Given the description of an element on the screen output the (x, y) to click on. 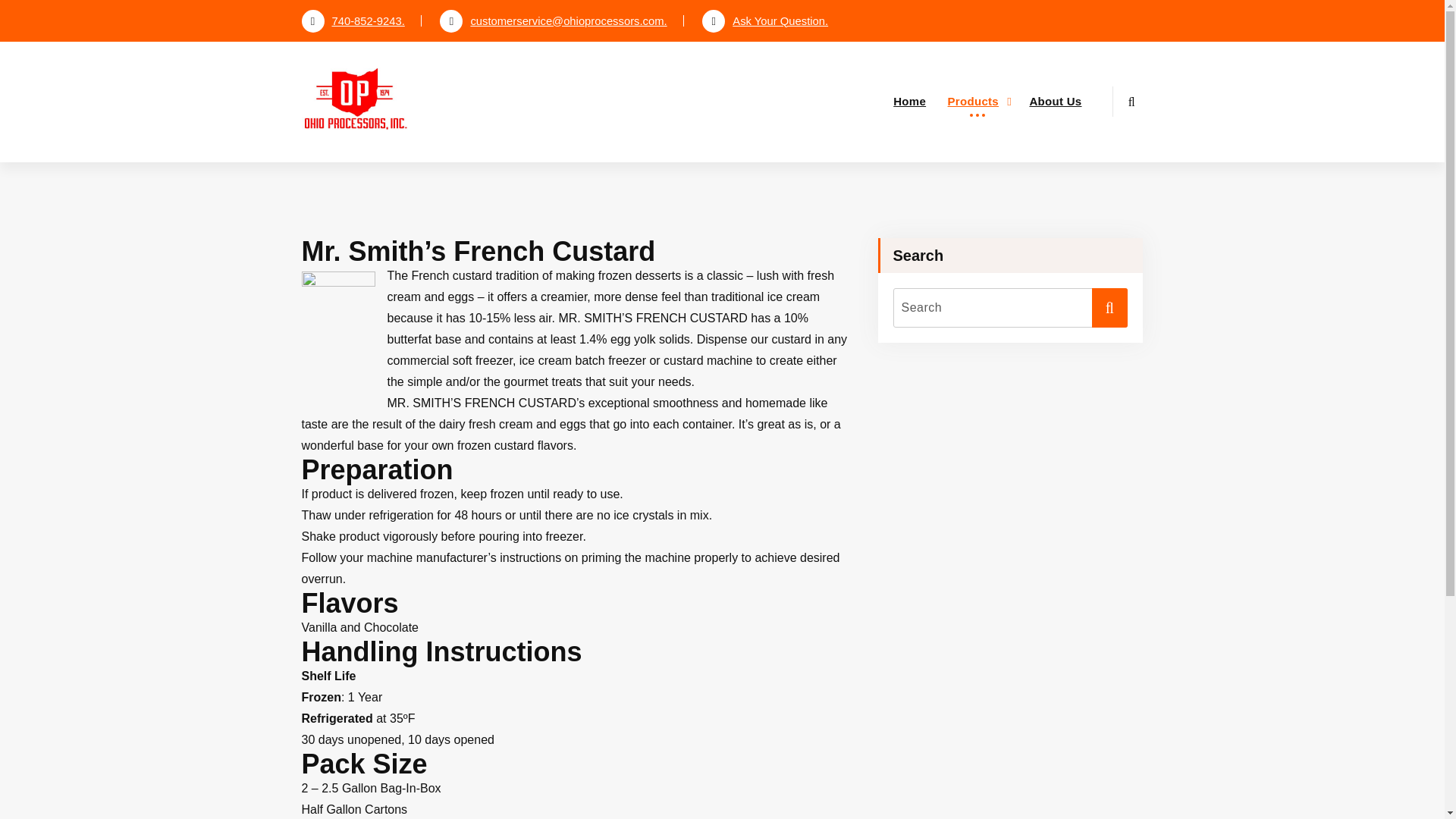
Products (977, 101)
740-852-9243. (352, 21)
About Us (1054, 101)
Products (977, 101)
About Us (1054, 101)
Ask Your Question. (764, 21)
Home (909, 101)
Home (909, 101)
